Given the description of an element on the screen output the (x, y) to click on. 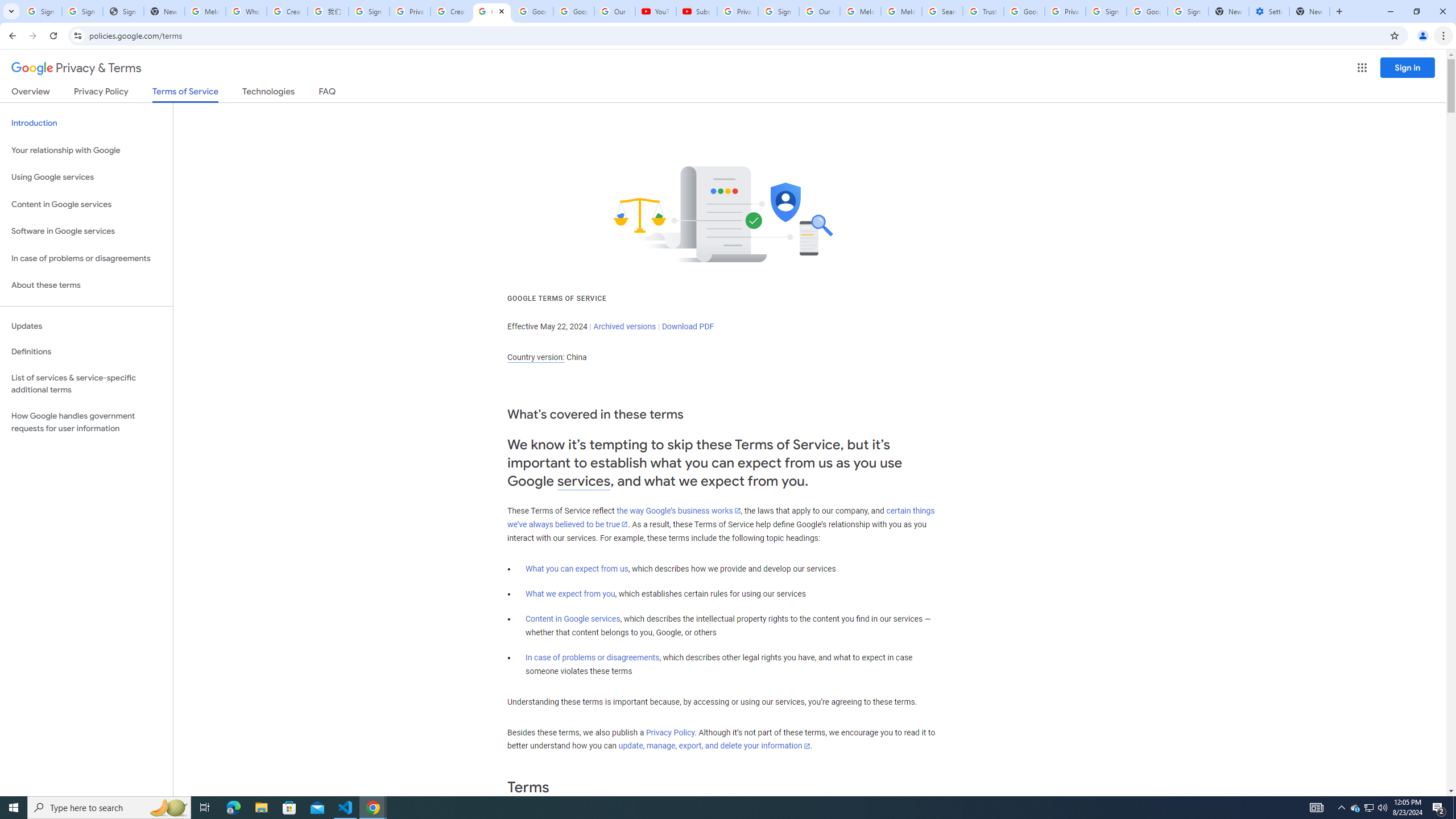
YouTube (655, 11)
Sign in - Google Accounts (777, 11)
Trusted Information and Content - Google Safety Center (983, 11)
Terms of Service (184, 94)
Country version: (535, 357)
In case of problems or disagreements (592, 657)
Using Google services (86, 176)
